Given the description of an element on the screen output the (x, y) to click on. 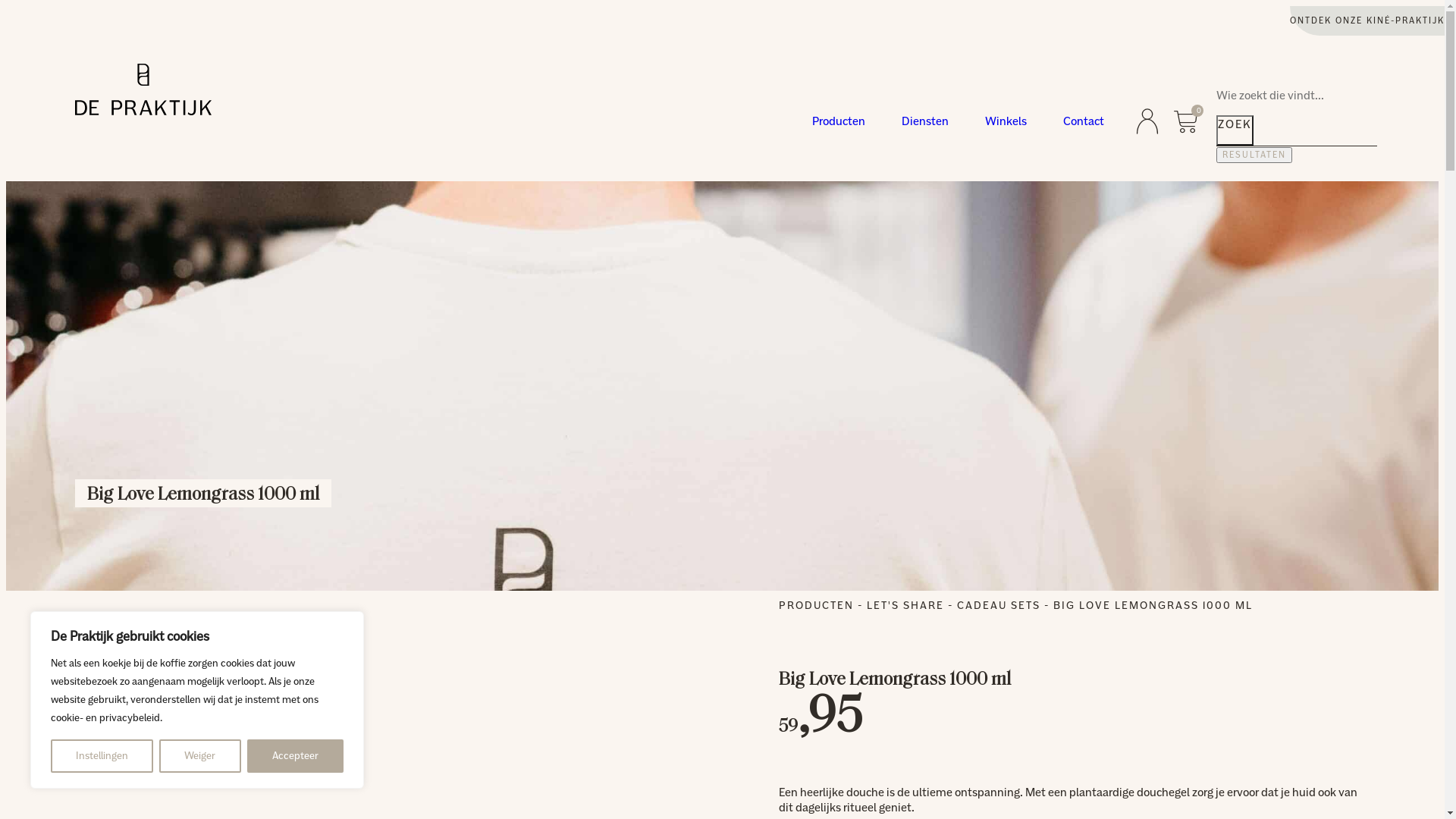
Contact Element type: text (1083, 120)
0 Element type: text (1185, 121)
ZOEK Element type: text (1234, 130)
Instellingen Element type: text (101, 755)
PRODUCTEN Element type: text (815, 604)
Weiger Element type: text (199, 755)
Accepteer Element type: text (295, 755)
CADEAU SETS Element type: text (998, 604)
RESULTATEN Element type: text (1254, 155)
Producten Element type: text (838, 120)
Winkels Element type: text (1005, 120)
LET'S SHARE Element type: text (904, 604)
Diensten Element type: text (924, 120)
